Given the description of an element on the screen output the (x, y) to click on. 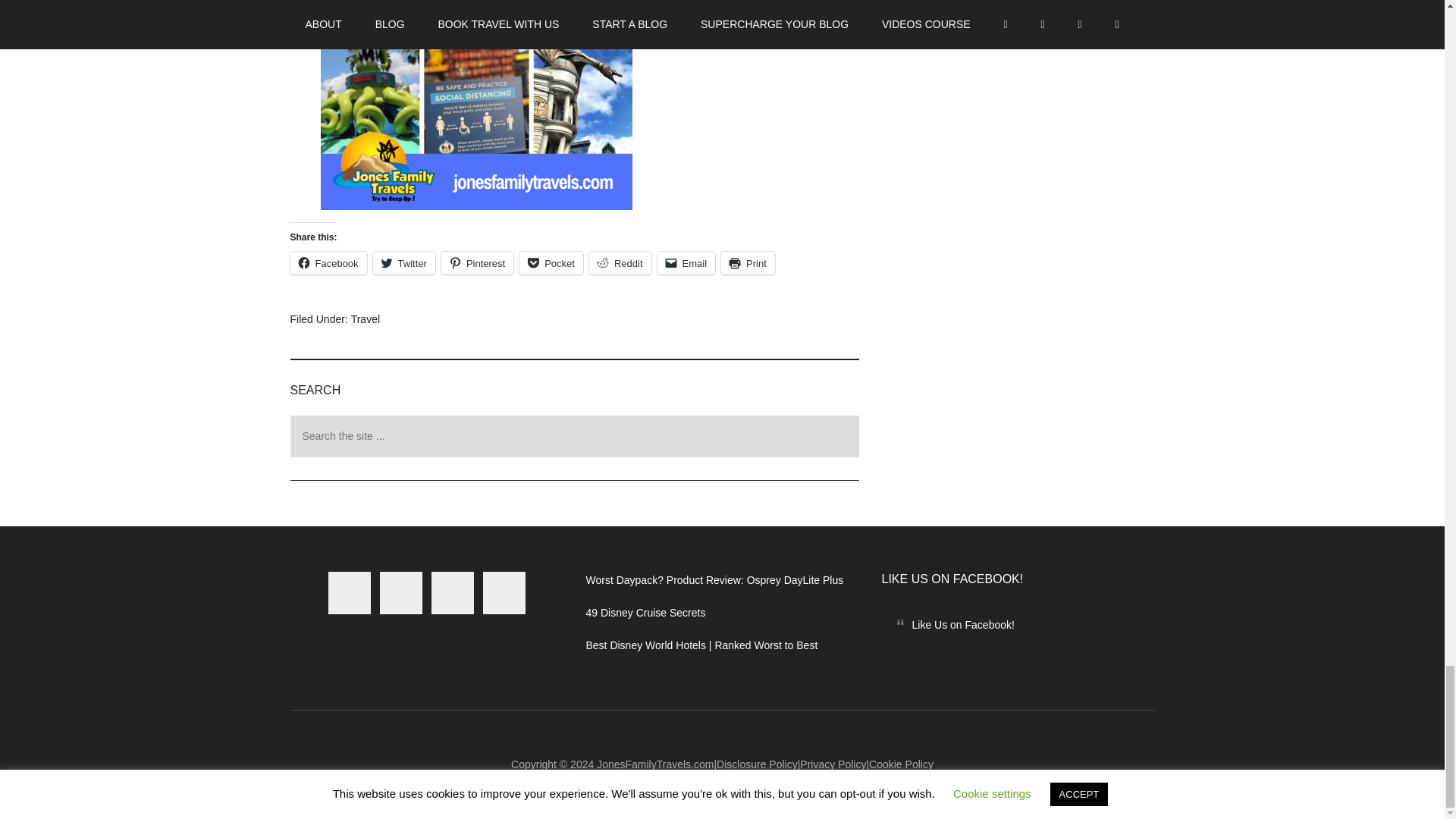
Click to share on Facebook (327, 262)
Click to share on Reddit (619, 262)
Click to share on Pocket (551, 262)
Click to email a link to a friend (687, 262)
Click to share on Pinterest (477, 262)
Click to print (747, 262)
Click to share on Twitter (403, 262)
